Given the description of an element on the screen output the (x, y) to click on. 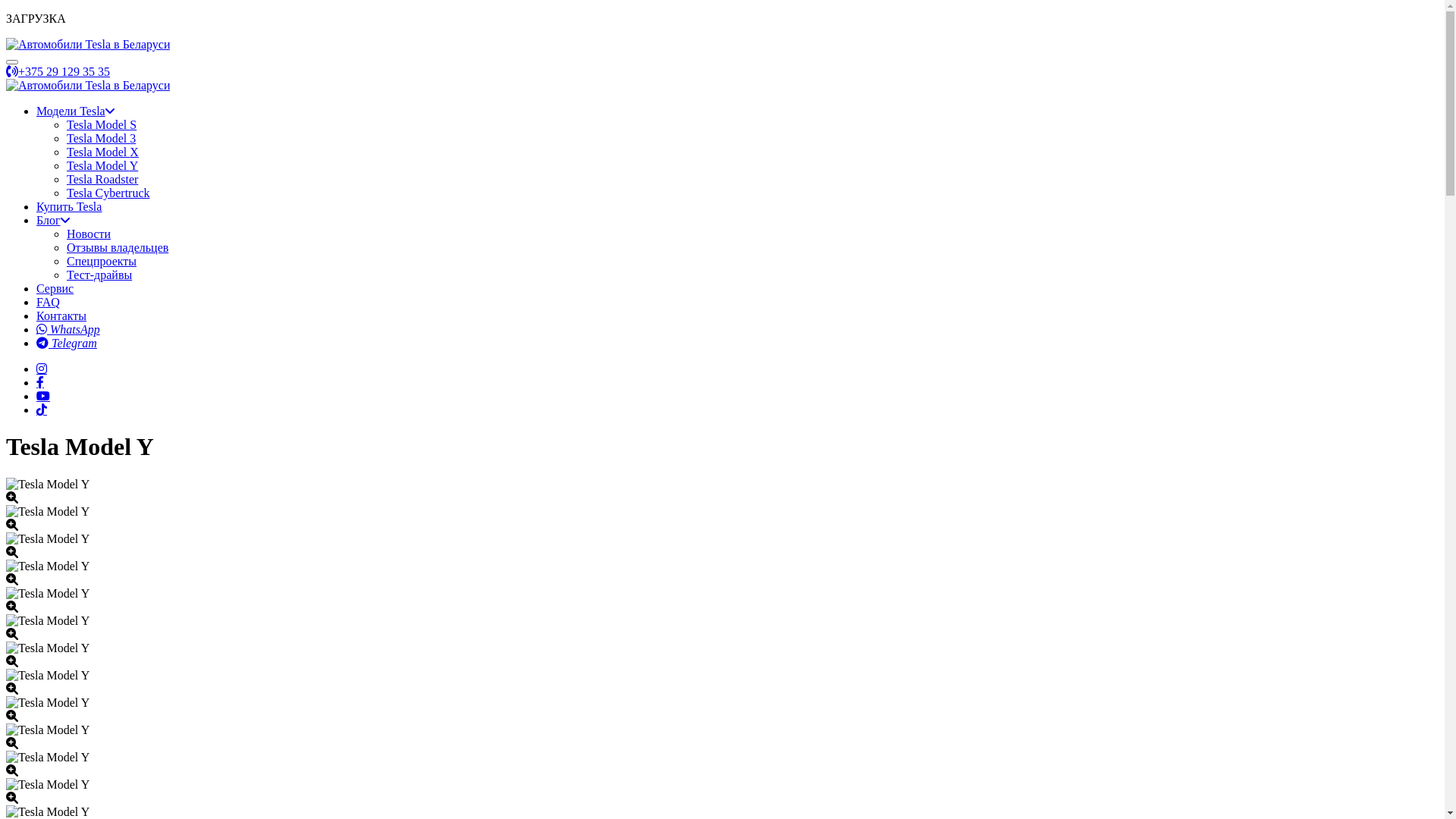
Tesla Model S Element type: text (101, 124)
Tesla Roadster Element type: text (102, 178)
Tesla Model Y Element type: text (102, 165)
Tesla Model X Element type: text (102, 151)
FAQ Element type: text (47, 301)
Tesla Model 3 Element type: text (100, 137)
WhatsApp Element type: text (68, 329)
Telegram Element type: text (66, 342)
Tesla Cybertruck Element type: text (108, 192)
+375 29 129 35 35 Element type: text (57, 71)
